Given the description of an element on the screen output the (x, y) to click on. 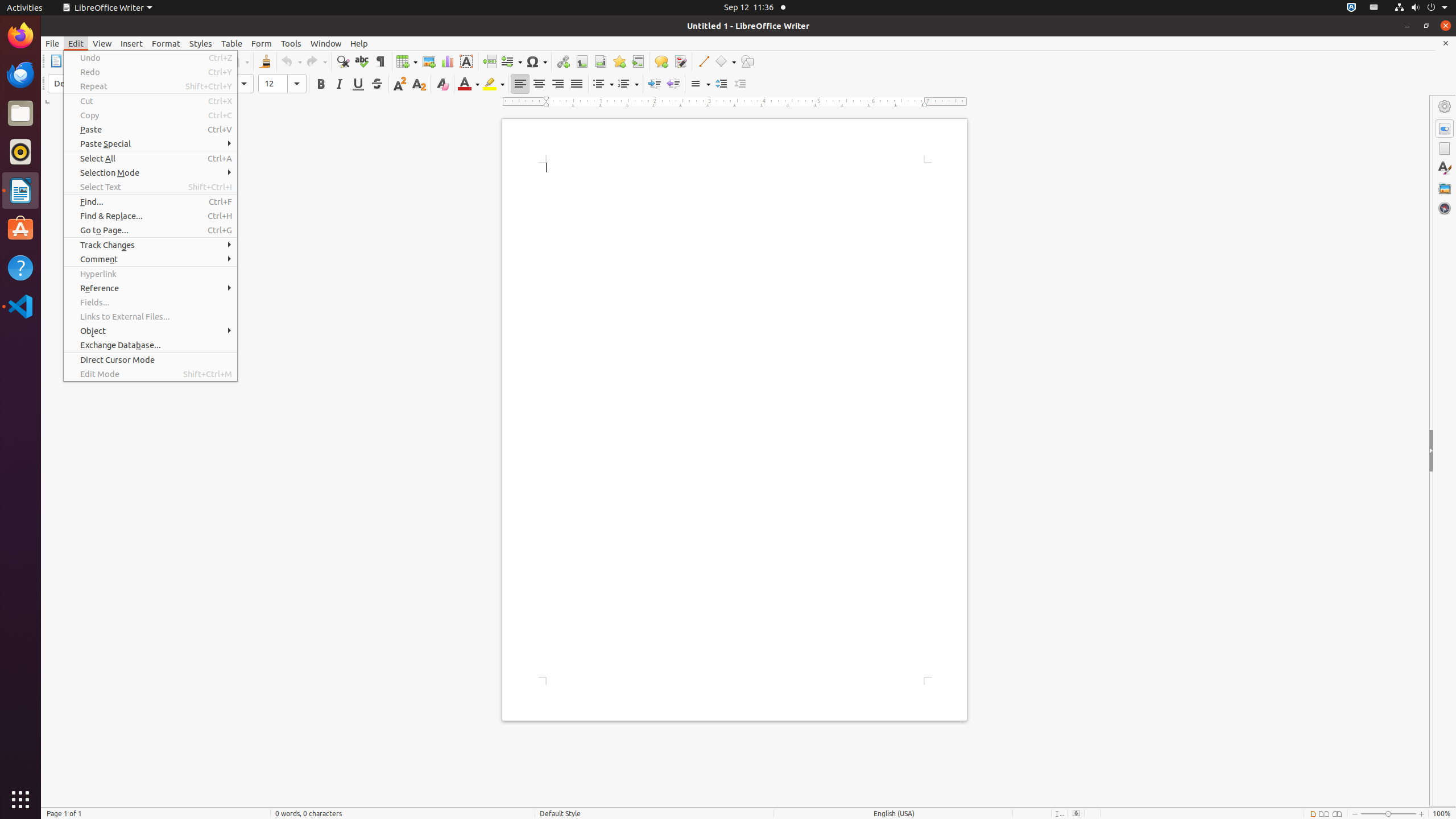
Find & Replace Element type: toggle-button (342, 61)
Highlight Color Element type: push-button (493, 83)
Page Element type: radio-button (1444, 148)
Symbol Element type: push-button (535, 61)
Clone Element type: push-button (264, 61)
